Given the description of an element on the screen output the (x, y) to click on. 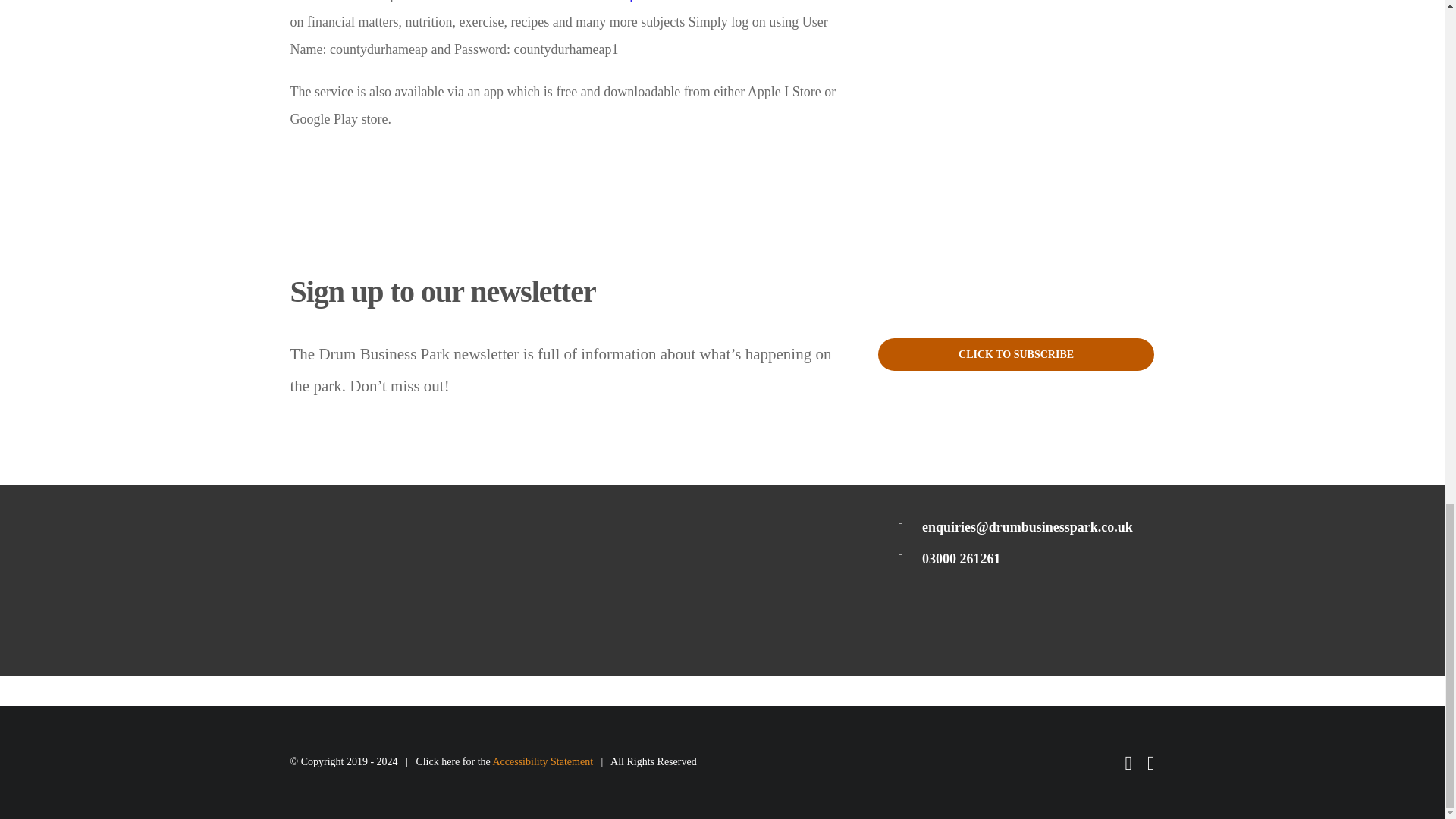
CLICK TO SUBSCRIBE (1015, 354)
Accessibility Statement (542, 761)
www.pamassist.co.uk (656, 1)
